Given the description of an element on the screen output the (x, y) to click on. 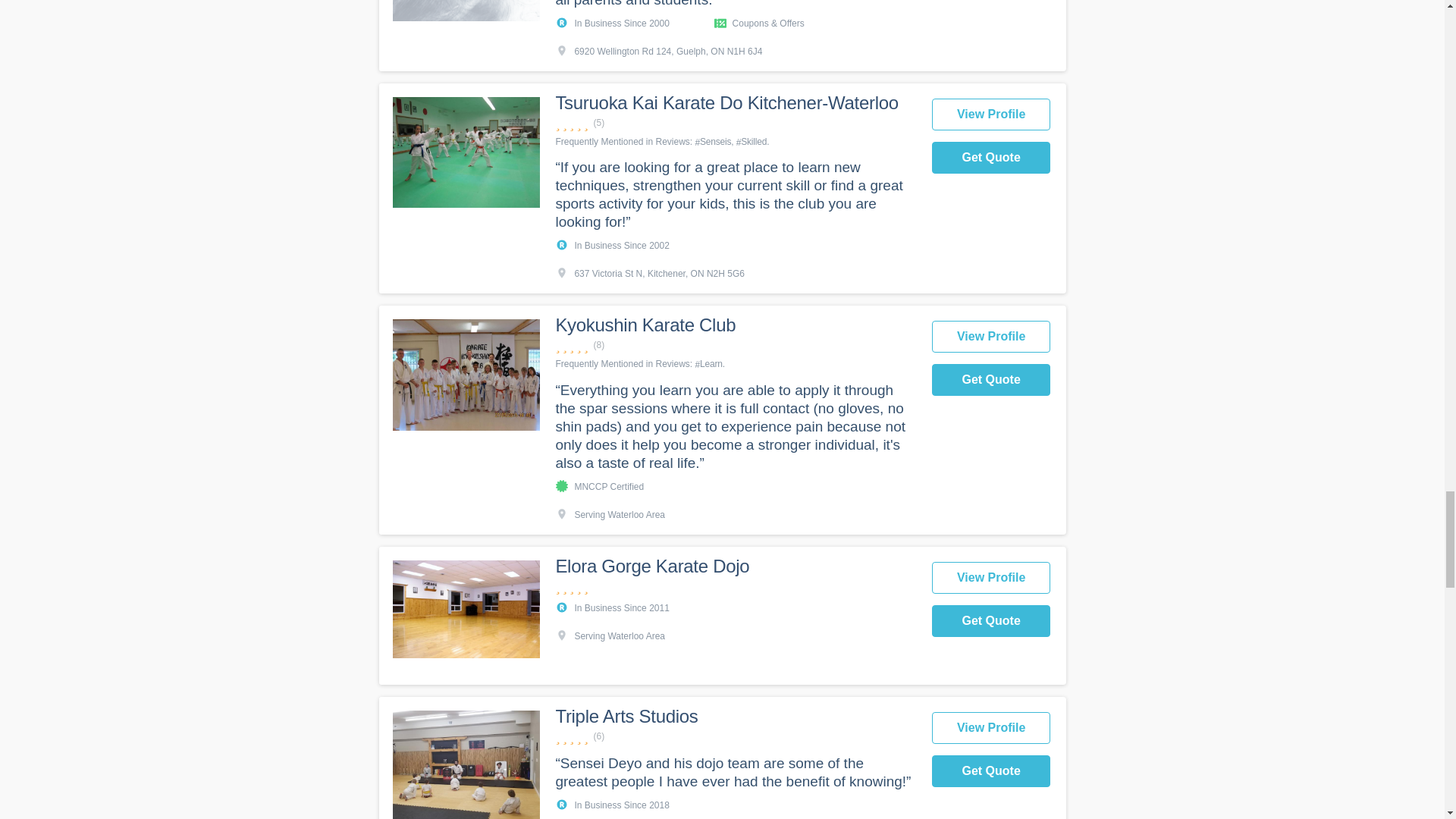
5.0 (734, 345)
5.0 (734, 123)
